Given the description of an element on the screen output the (x, y) to click on. 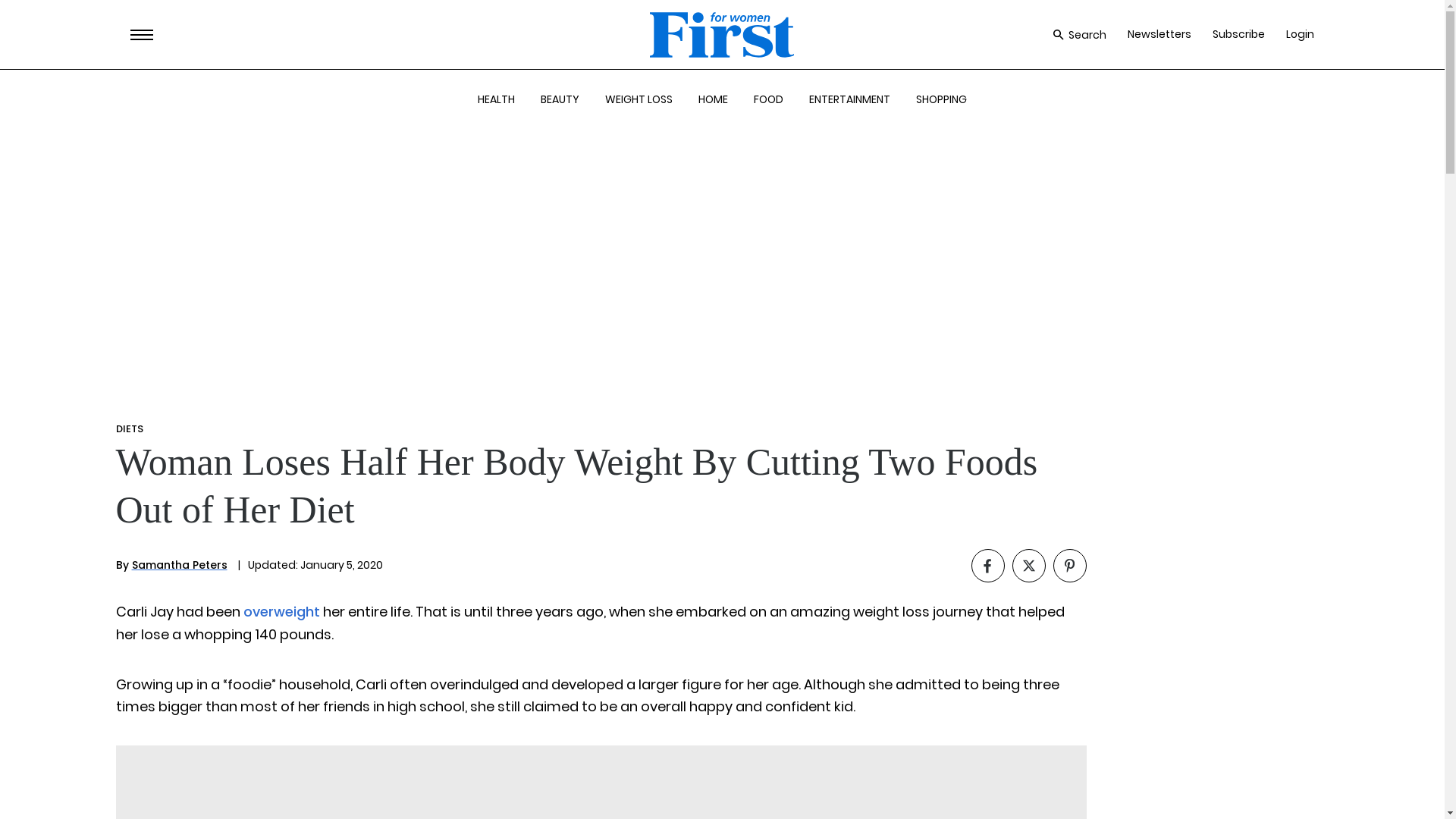
MENU (141, 34)
Click to share on Pinterest (1069, 565)
Subscribe (1238, 33)
Click to share on Twitter (1028, 565)
Newsletters (1158, 33)
Click to share on Facebook (987, 565)
